Given the description of an element on the screen output the (x, y) to click on. 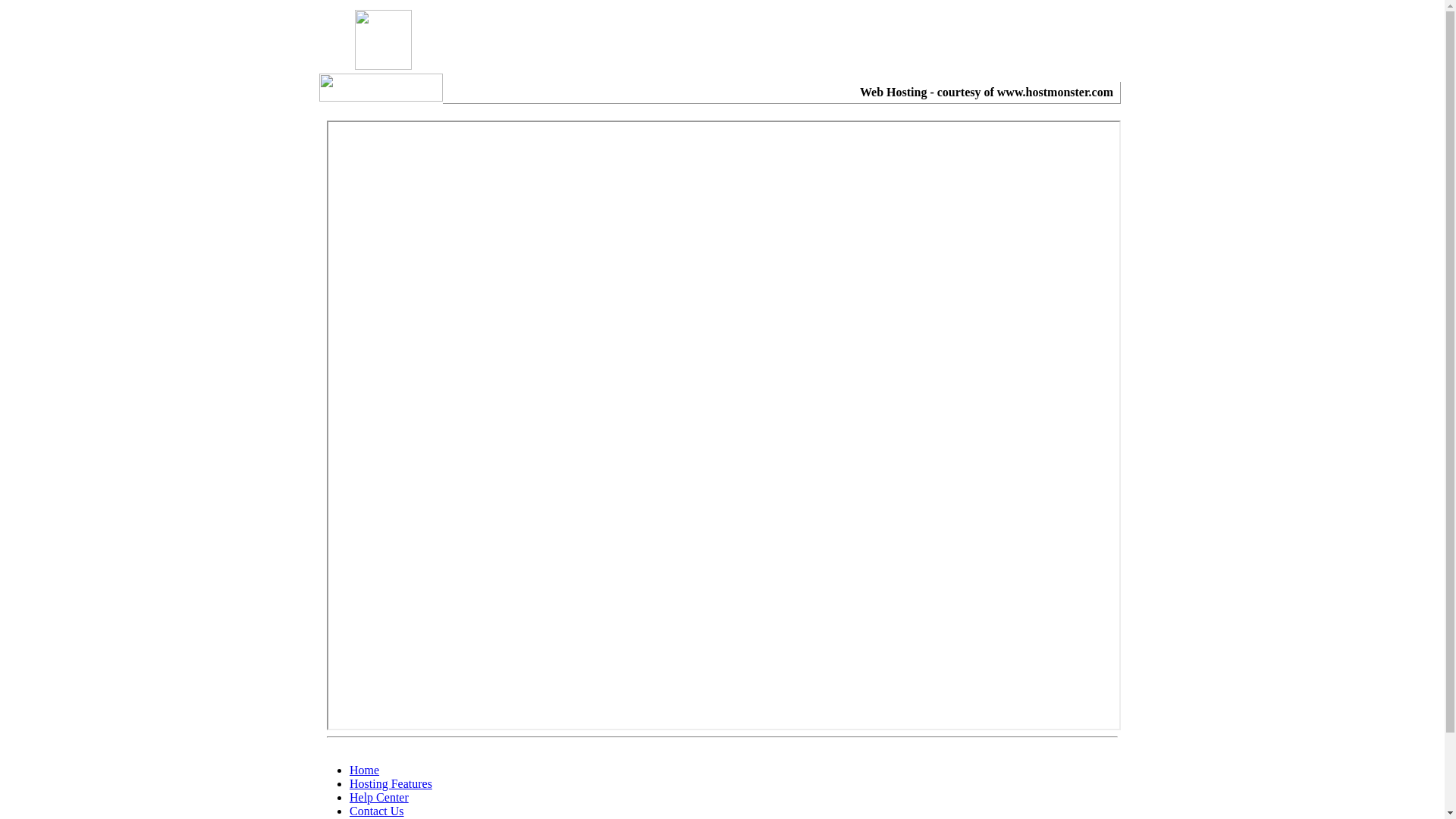
Contact Us Element type: text (376, 810)
Home Element type: text (364, 769)
Help Center Element type: text (378, 796)
Hosting Features Element type: text (390, 783)
Web Hosting - courtesy of www.hostmonster.com Element type: text (986, 91)
